Given the description of an element on the screen output the (x, y) to click on. 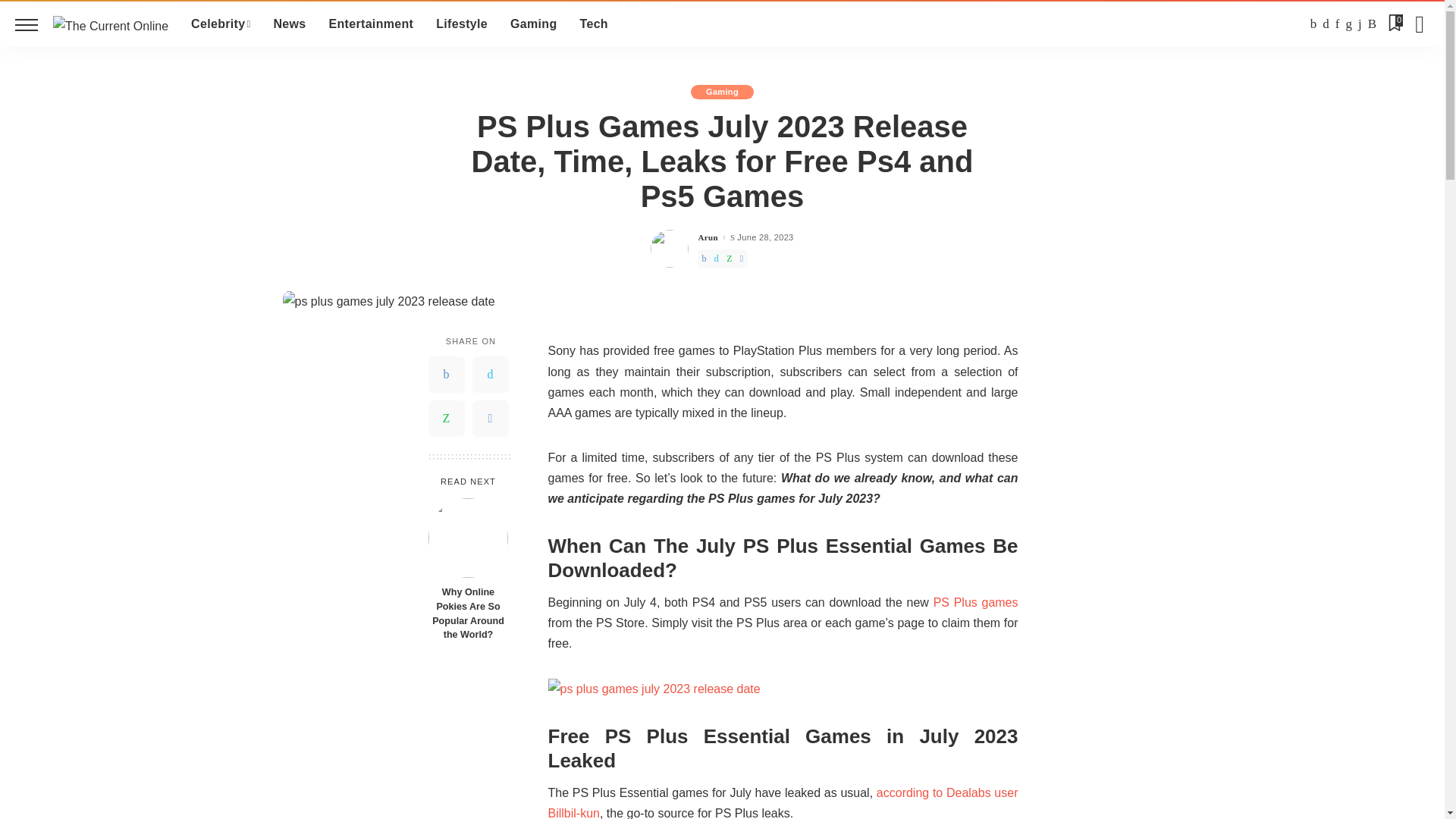
Gaming (533, 23)
Entertainment (371, 23)
Tech (594, 23)
The Current Online (110, 23)
News (289, 23)
Celebrity (220, 23)
Lifestyle (462, 23)
